Given the description of an element on the screen output the (x, y) to click on. 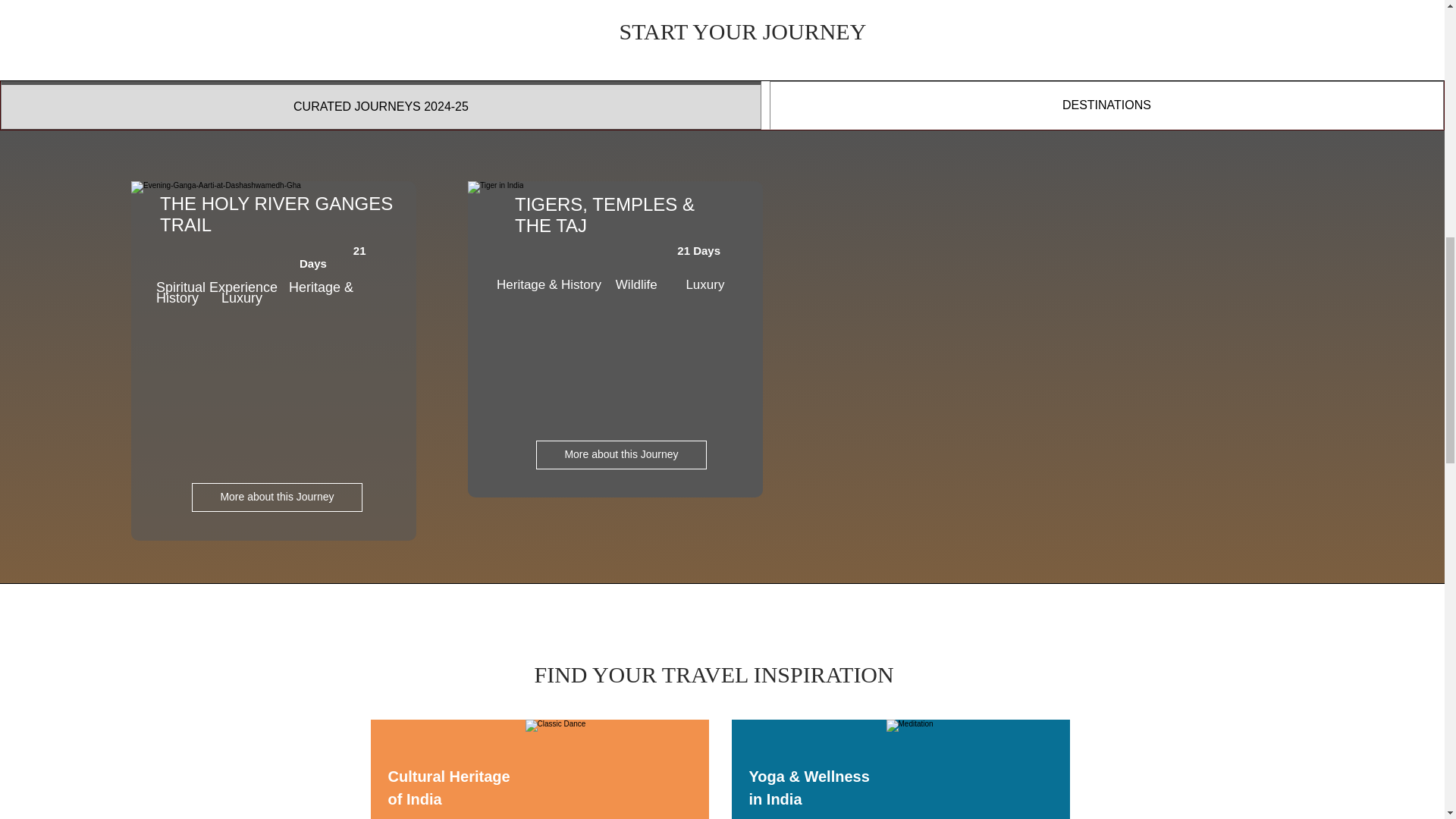
River Ganges Worship in Varanasi (273, 338)
FIND YOUR TRAVEL INSPIRATION (713, 674)
START YOUR JOURNEY (742, 31)
Tiger in India (614, 338)
